Given the description of an element on the screen output the (x, y) to click on. 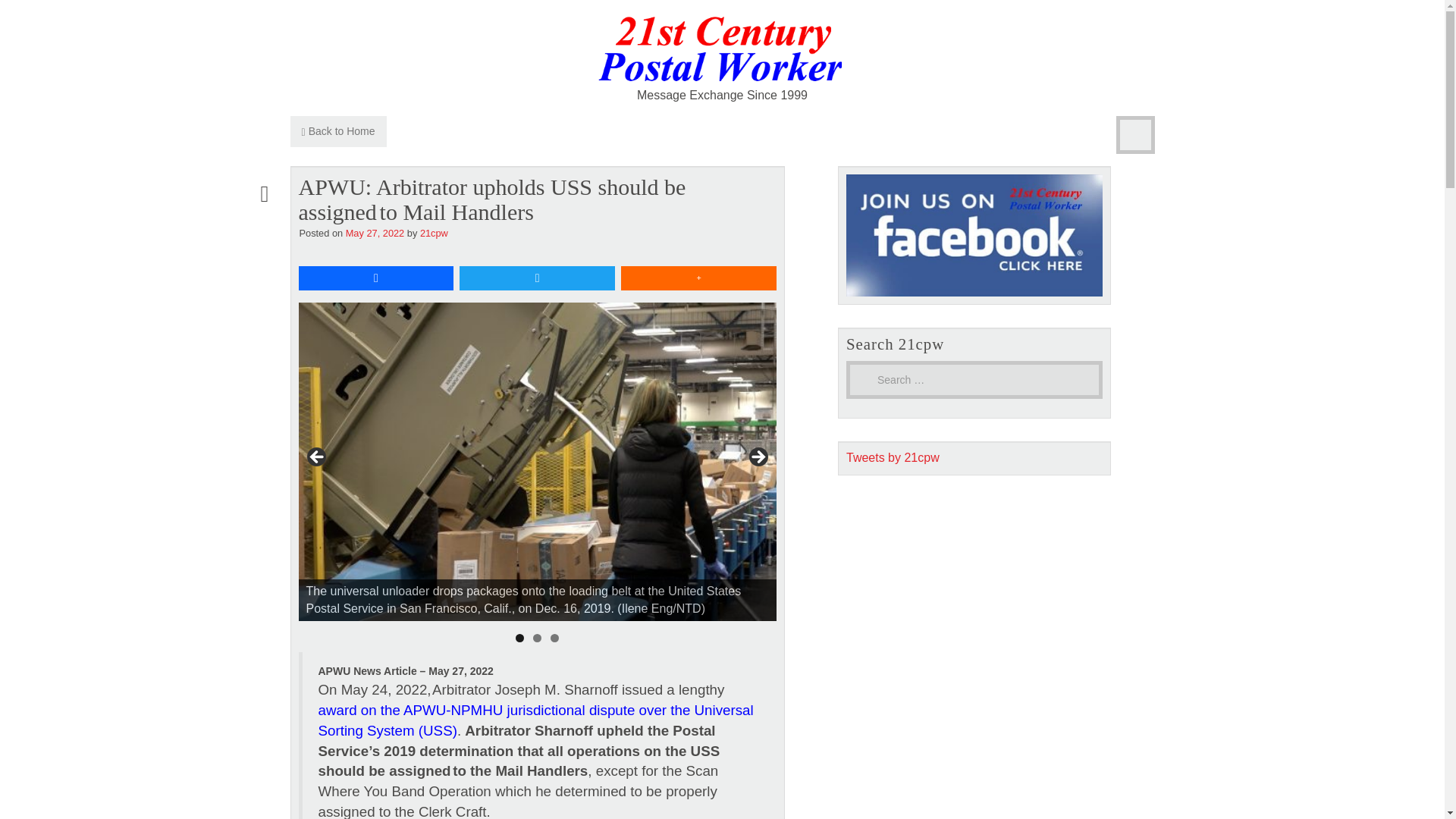
May 27, 2022 (375, 233)
1 (519, 637)
21st Century Postal Worker (722, 48)
Share this on Facebook (376, 278)
Back to Home (337, 131)
More share links (698, 278)
Back to Home (337, 131)
21cpw (434, 233)
2 (536, 637)
